Given the description of an element on the screen output the (x, y) to click on. 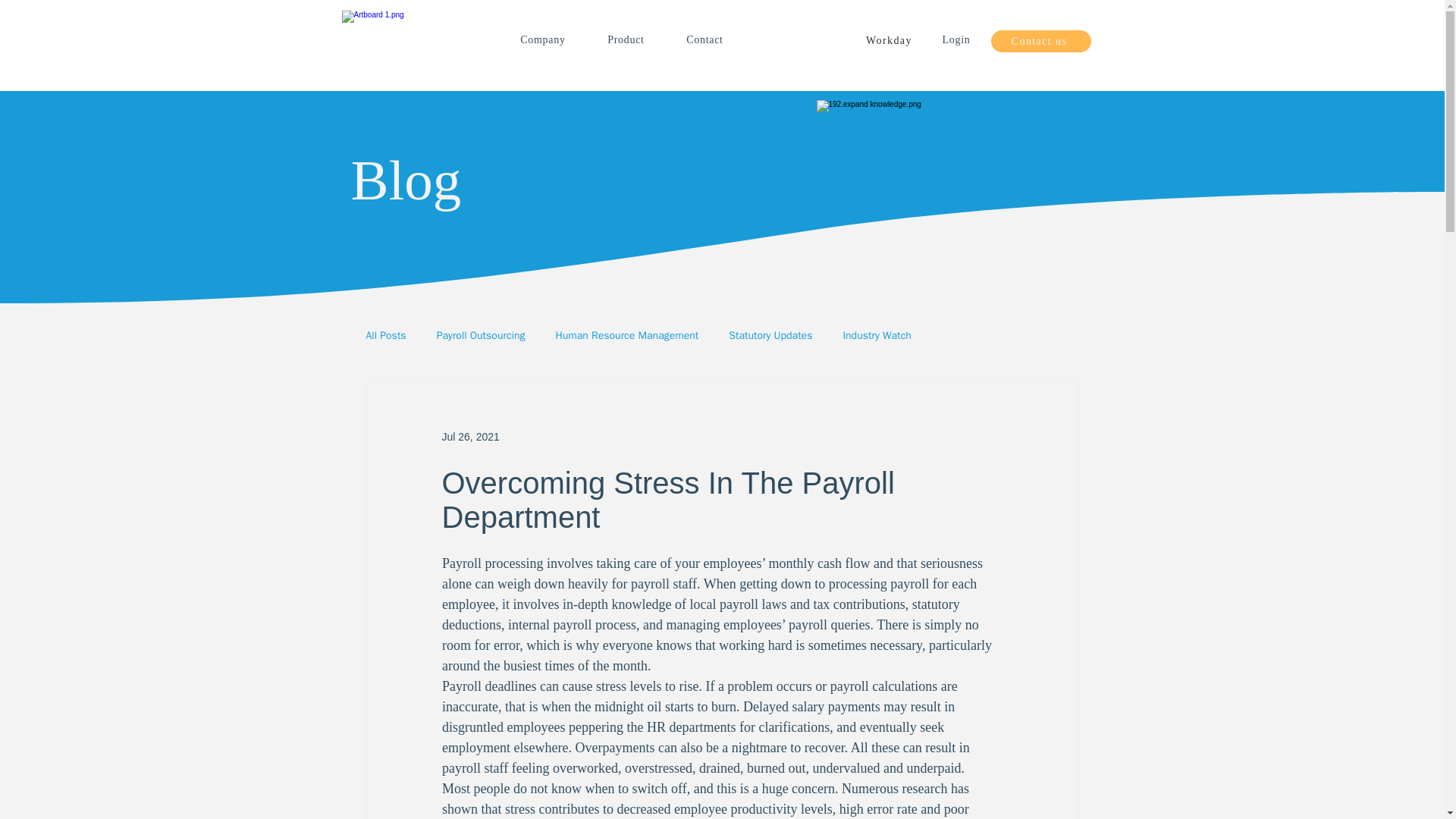
Workday (890, 40)
Statutory Updates (770, 336)
All Posts (385, 336)
Human Resource Management (627, 336)
Jul 26, 2021 (470, 436)
Industry Watch (877, 336)
Payroll Outsourcing (480, 336)
Contact us (1040, 41)
